Given the description of an element on the screen output the (x, y) to click on. 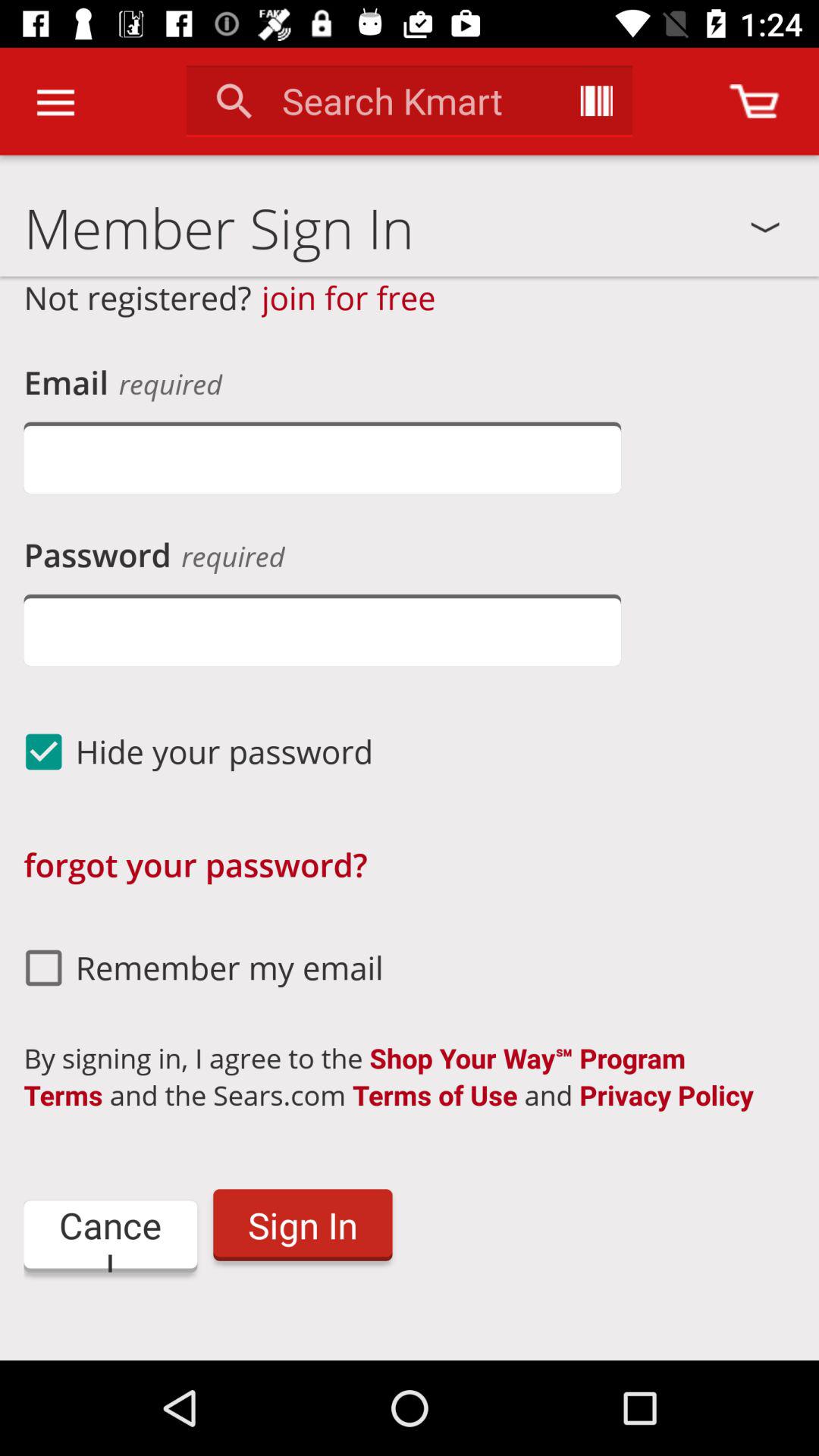
swipe to cancel (110, 1236)
